Given the description of an element on the screen output the (x, y) to click on. 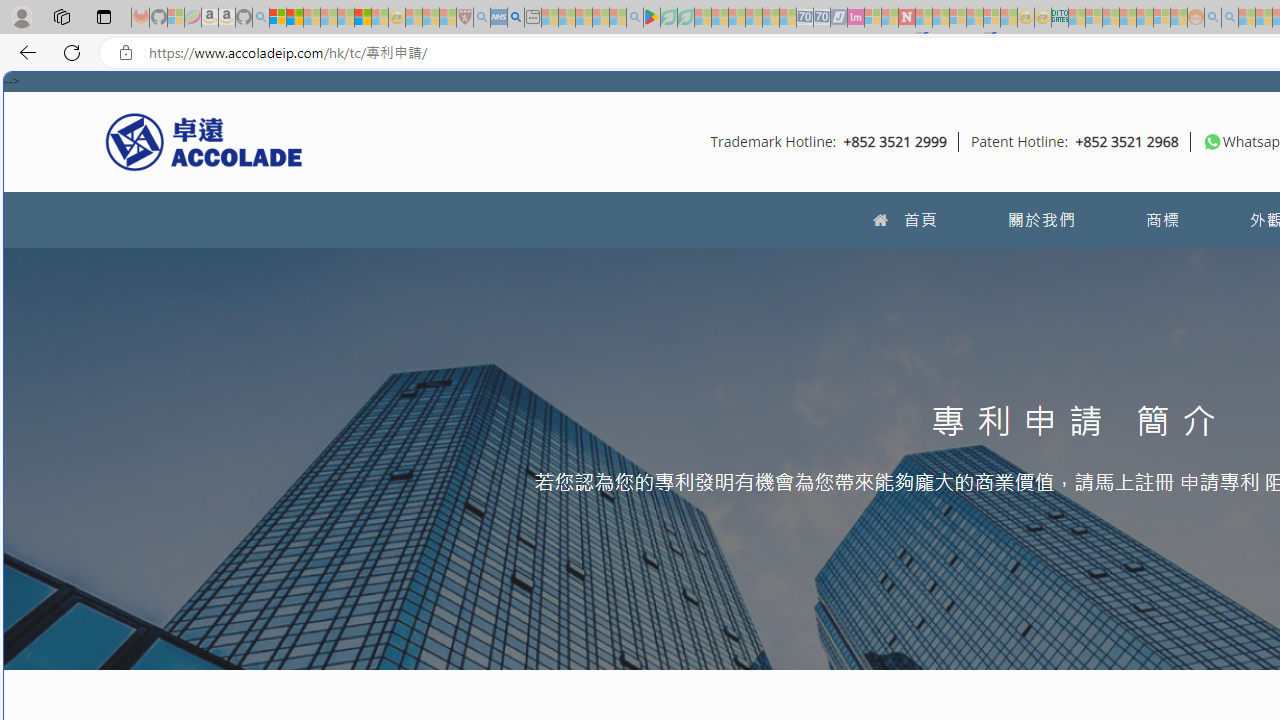
Cheap Hotels - Save70.com - Sleeping (821, 17)
utah sues federal government - Search (515, 17)
Accolade IP HK Logo (203, 141)
Bluey: Let's Play! - Apps on Google Play (651, 17)
Accolade IP HK Logo (203, 141)
The Weather Channel - MSN - Sleeping (311, 17)
